Given the description of an element on the screen output the (x, y) to click on. 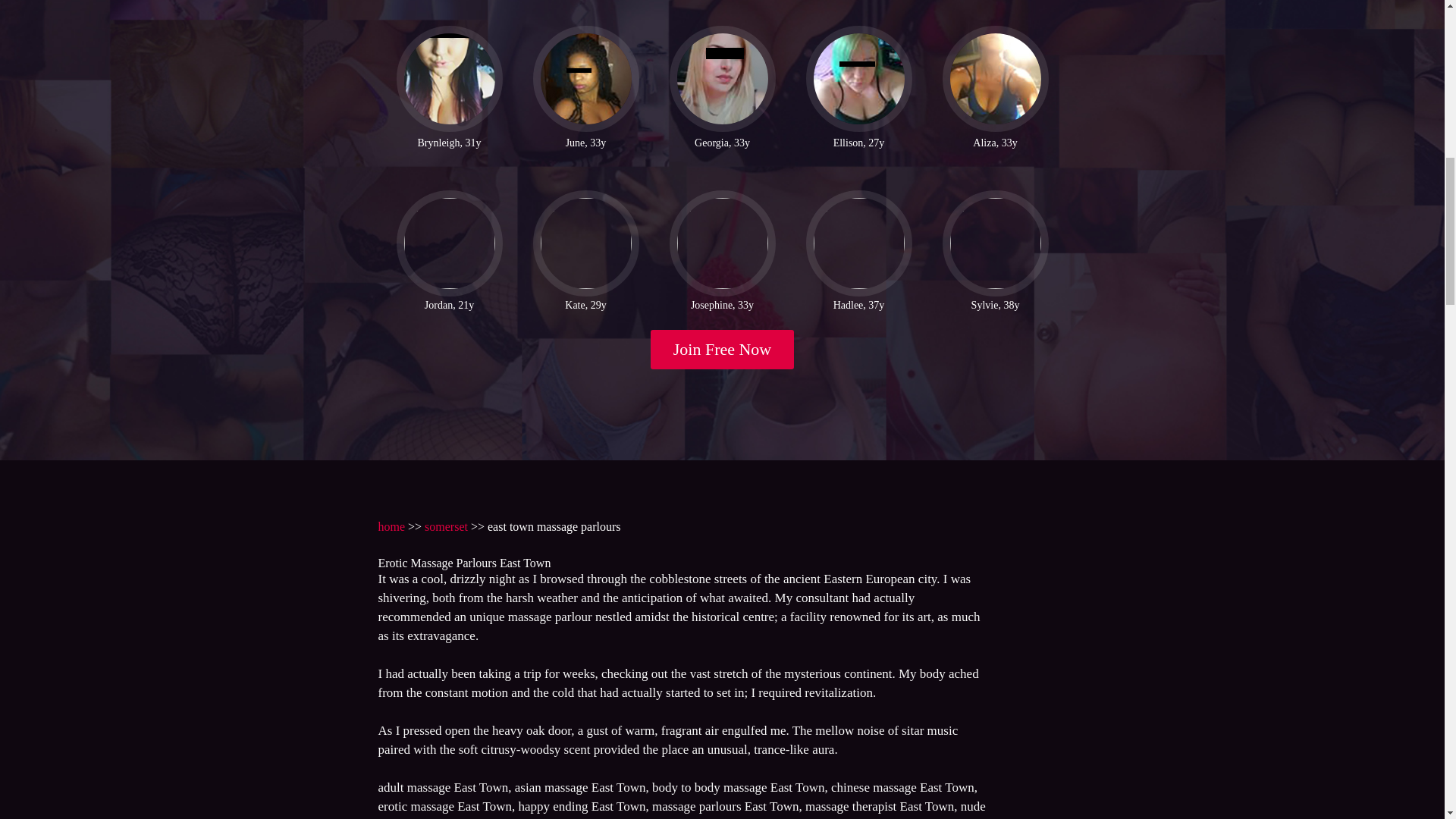
Join Free Now (722, 349)
home (390, 526)
somerset (446, 526)
Join (722, 349)
